Given the description of an element on the screen output the (x, y) to click on. 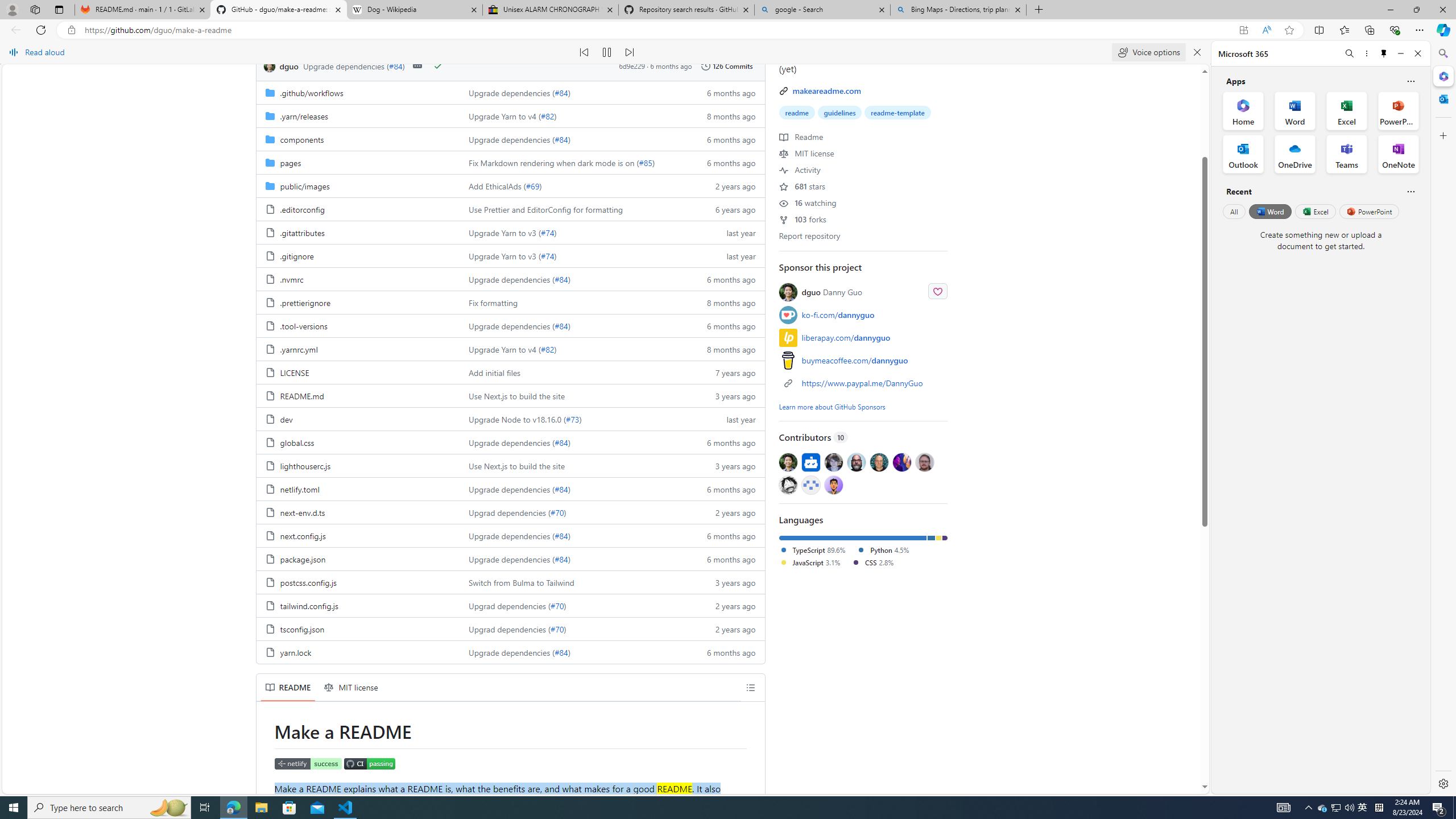
package.json, (File) (302, 559)
All (1233, 210)
Home Office App (1243, 110)
ko-fi.com/dannyguo (862, 314)
ko_fi (787, 314)
2 years ago (725, 628)
AutomationID: folder-row-5 (510, 208)
